Given the description of an element on the screen output the (x, y) to click on. 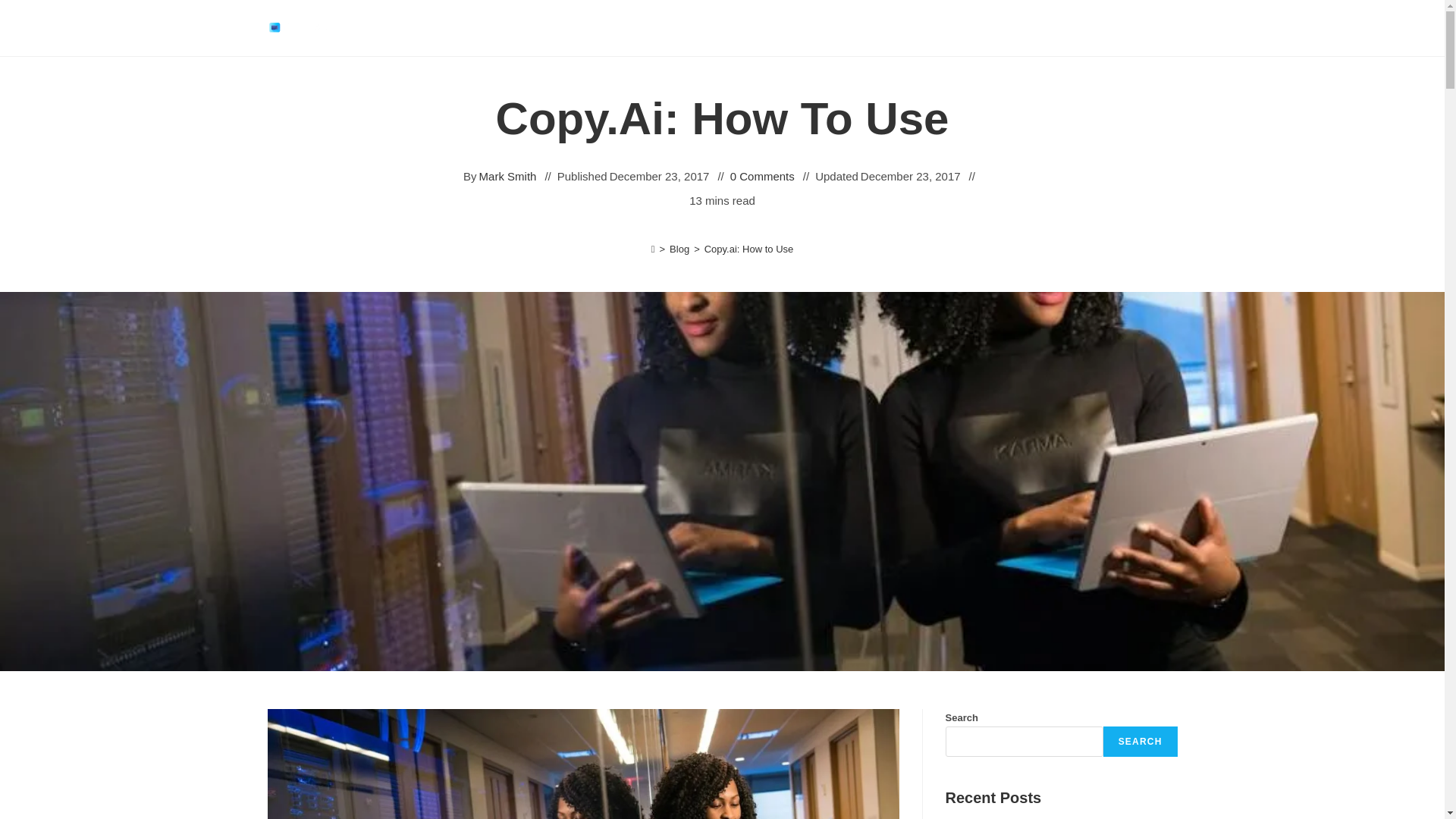
Mark Smith (508, 176)
0 Comments (762, 176)
Blog (678, 248)
Copy.ai: How to Use (748, 248)
